Given the description of an element on the screen output the (x, y) to click on. 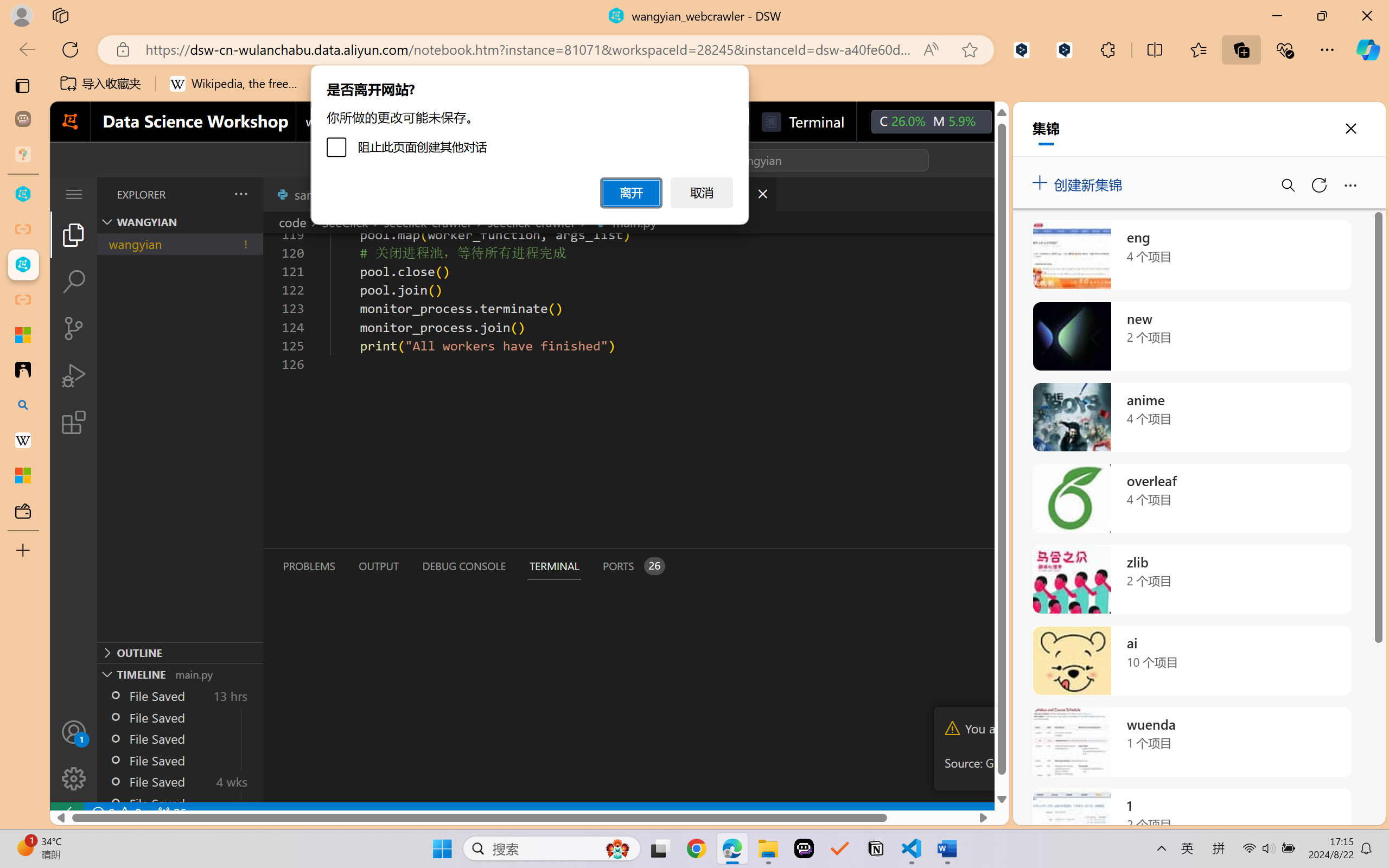
Class: next-menu next-hoz widgets--iconMenu--BFkiHRM (1015, 121)
remote (66, 812)
icon (1015, 119)
Debug Console (Ctrl+Shift+Y) (463, 565)
wangyian_webcrawler - DSW (22, 264)
No Problems (115, 812)
